Given the description of an element on the screen output the (x, y) to click on. 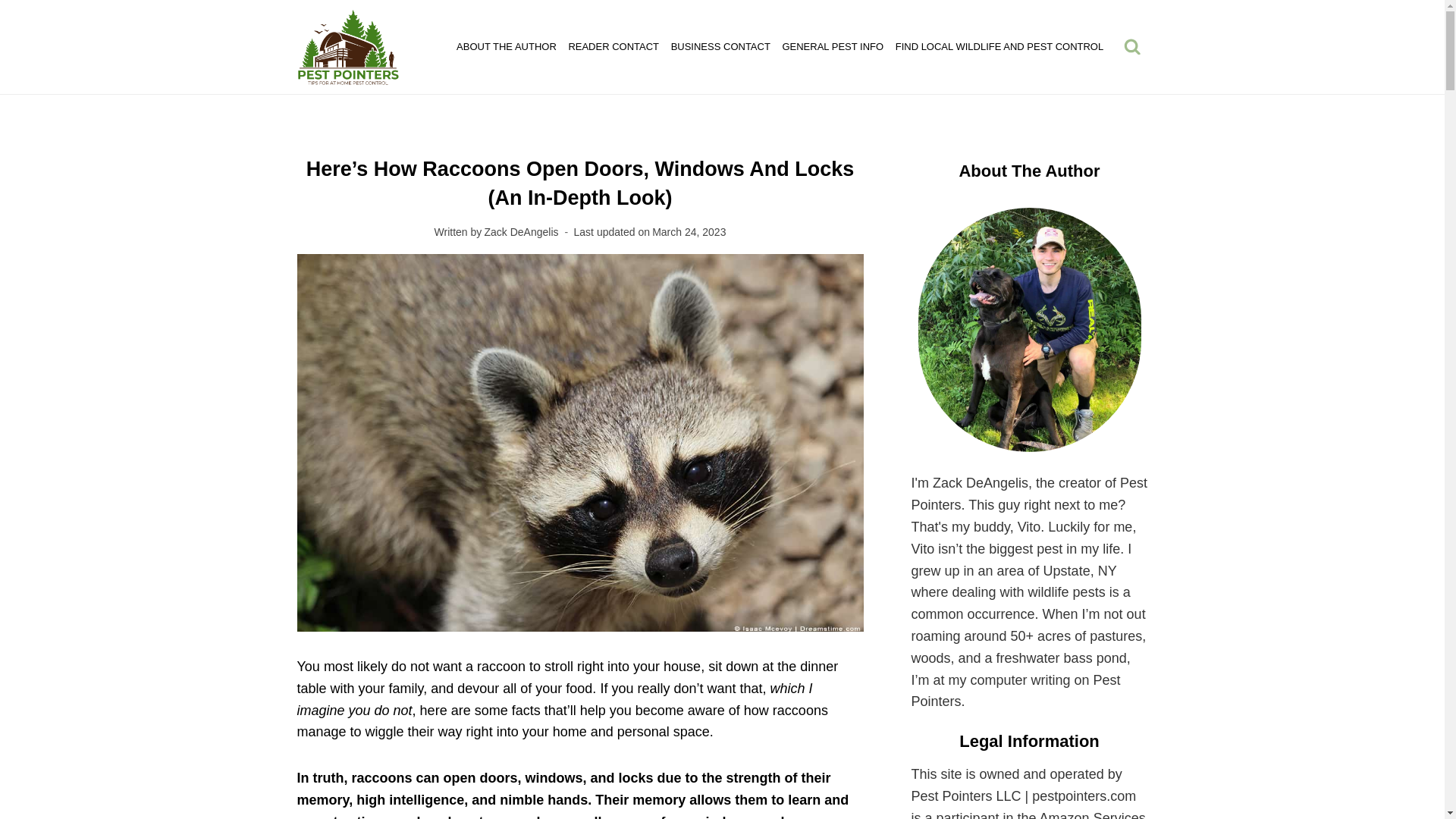
Zack DeAngelis (520, 232)
GENERAL PEST INFO (832, 46)
BUSINESS CONTACT (720, 46)
READER CONTACT (613, 46)
FIND LOCAL WILDLIFE AND PEST CONTROL (999, 46)
ABOUT THE AUTHOR (505, 46)
